Given the description of an element on the screen output the (x, y) to click on. 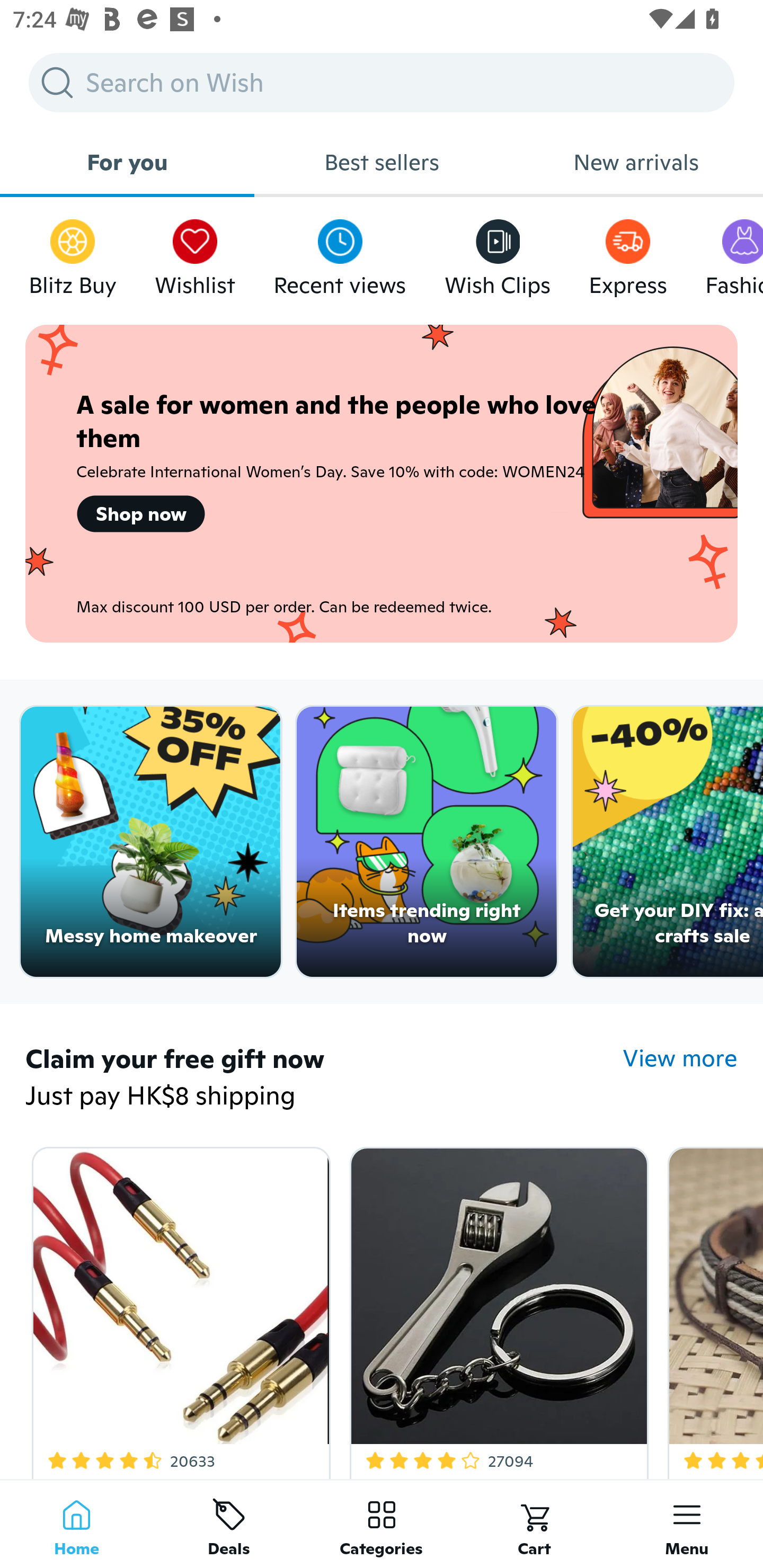
Search on Wish (381, 82)
For you (127, 161)
Best sellers (381, 161)
New arrivals (635, 161)
Blitz Buy (72, 252)
Wishlist (194, 252)
Recent views (339, 252)
Wish Clips (497, 252)
Express (627, 252)
Fashion (734, 252)
Messy home makeover (150, 841)
Items trending right now (426, 841)
Get your DIY fix: arts & crafts sale (668, 841)
Claim your free gift now
Just pay HK$8 shipping (323, 1078)
View more (679, 1058)
4.3 Star Rating 20633 Free (177, 1308)
4 Star Rating 27094 Free (495, 1308)
Home (76, 1523)
Deals (228, 1523)
Categories (381, 1523)
Cart (533, 1523)
Menu (686, 1523)
